Given the description of an element on the screen output the (x, y) to click on. 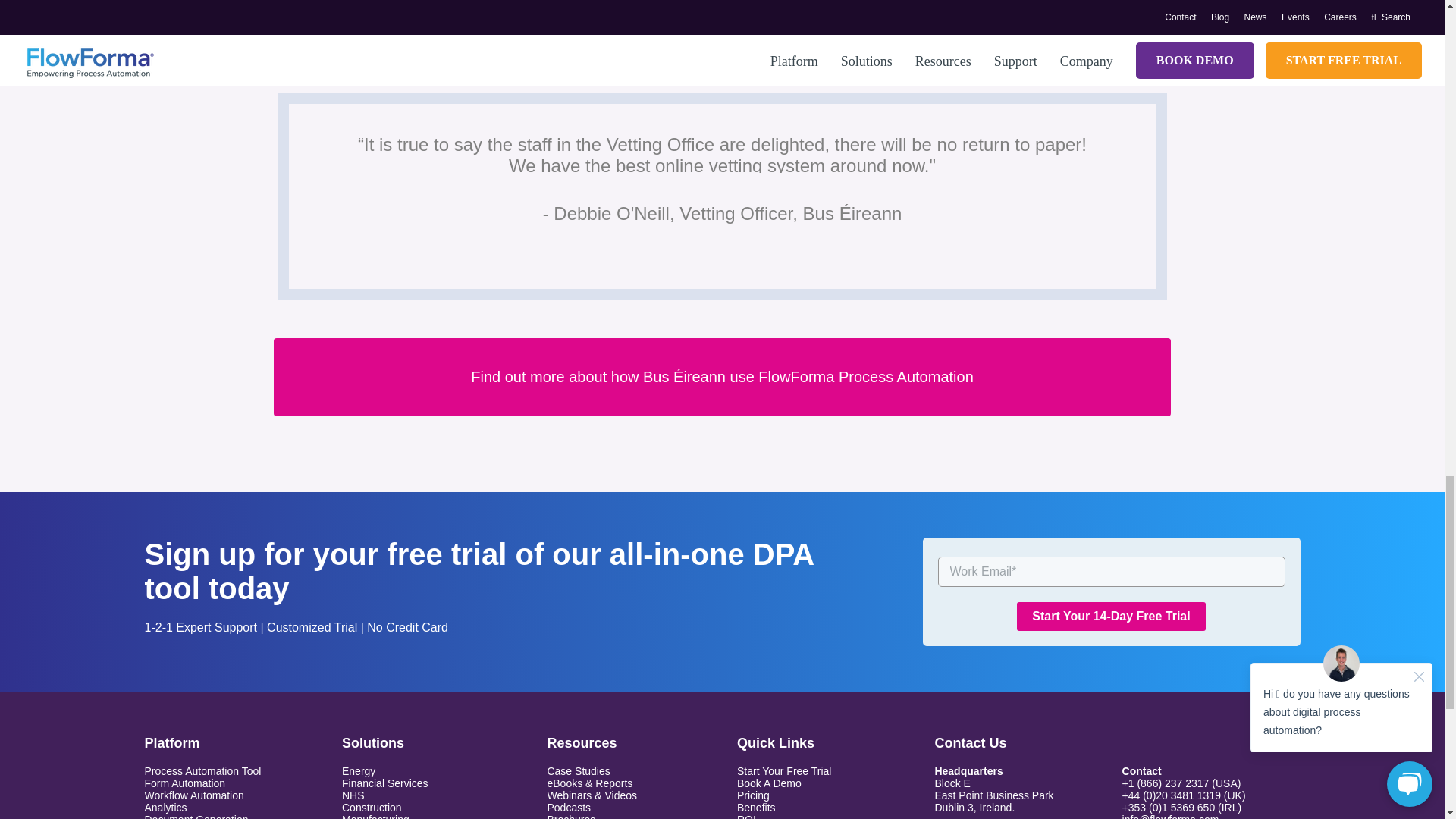
Start Your 14-Day Free Trial (1110, 615)
